Given the description of an element on the screen output the (x, y) to click on. 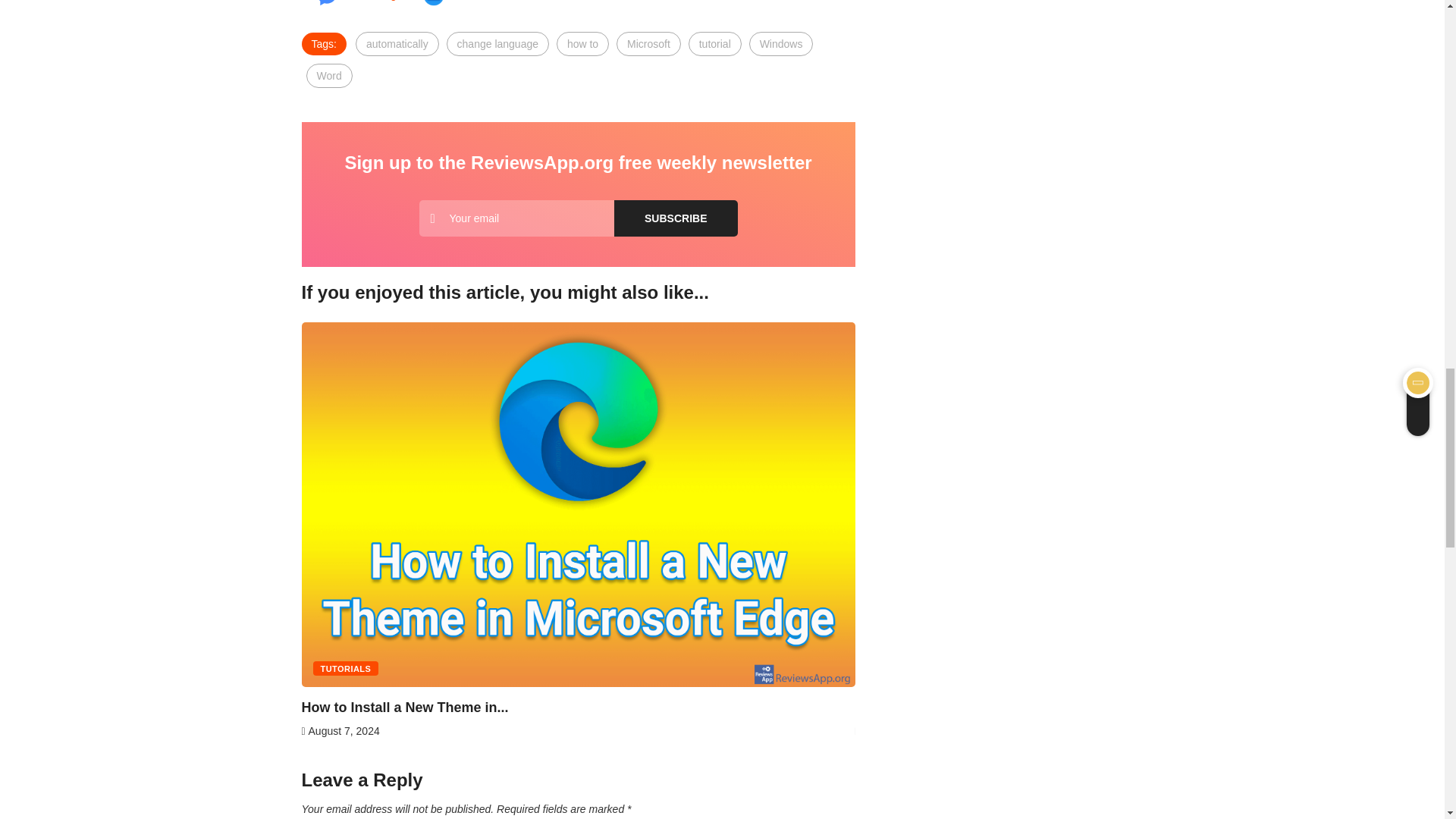
to Messenger (360, 3)
change language (497, 43)
automatically (397, 43)
to Email (454, 3)
Subscribe (675, 217)
how to (582, 43)
